Given the description of an element on the screen output the (x, y) to click on. 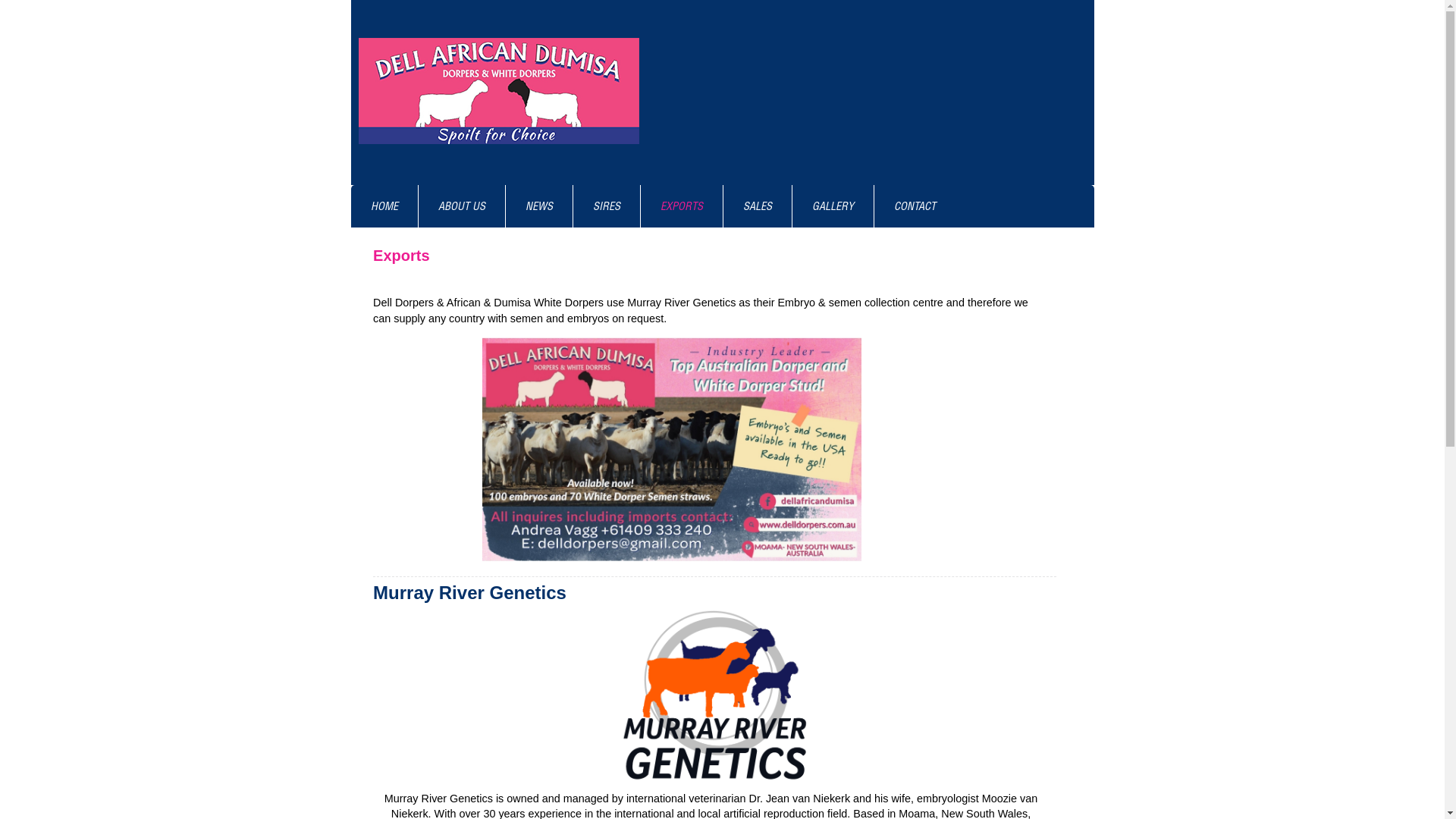
GALLERY Element type: text (831, 206)
SIRES Element type: text (606, 206)
NEWS Element type: text (538, 206)
HOME Element type: text (383, 206)
ABOUT US Element type: text (461, 206)
CONTACT Element type: text (913, 206)
EXPORTS Element type: text (680, 206)
SALES Element type: text (757, 206)
